Given the description of an element on the screen output the (x, y) to click on. 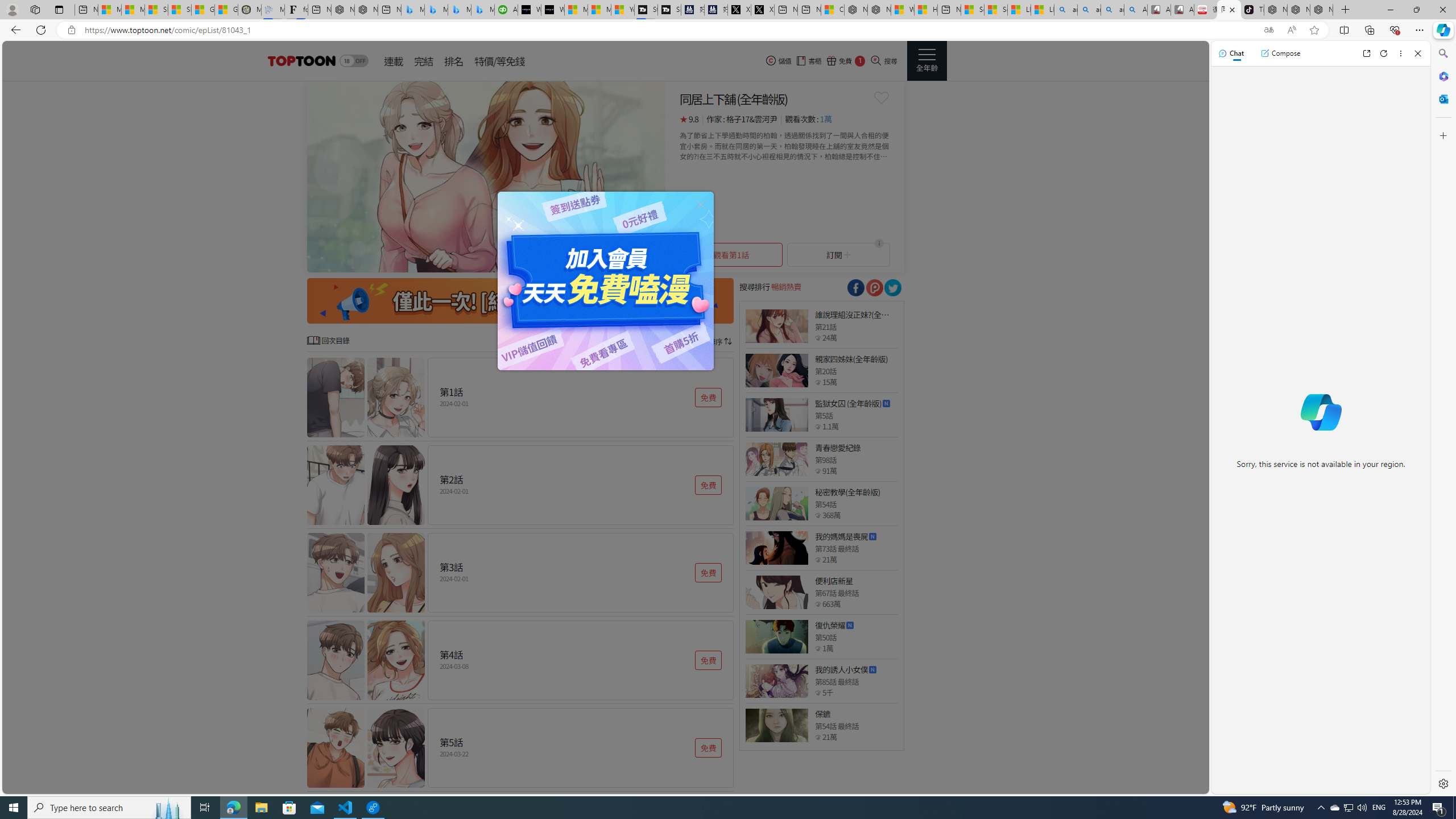
amazon - Search Images (1112, 9)
